Given the description of an element on the screen output the (x, y) to click on. 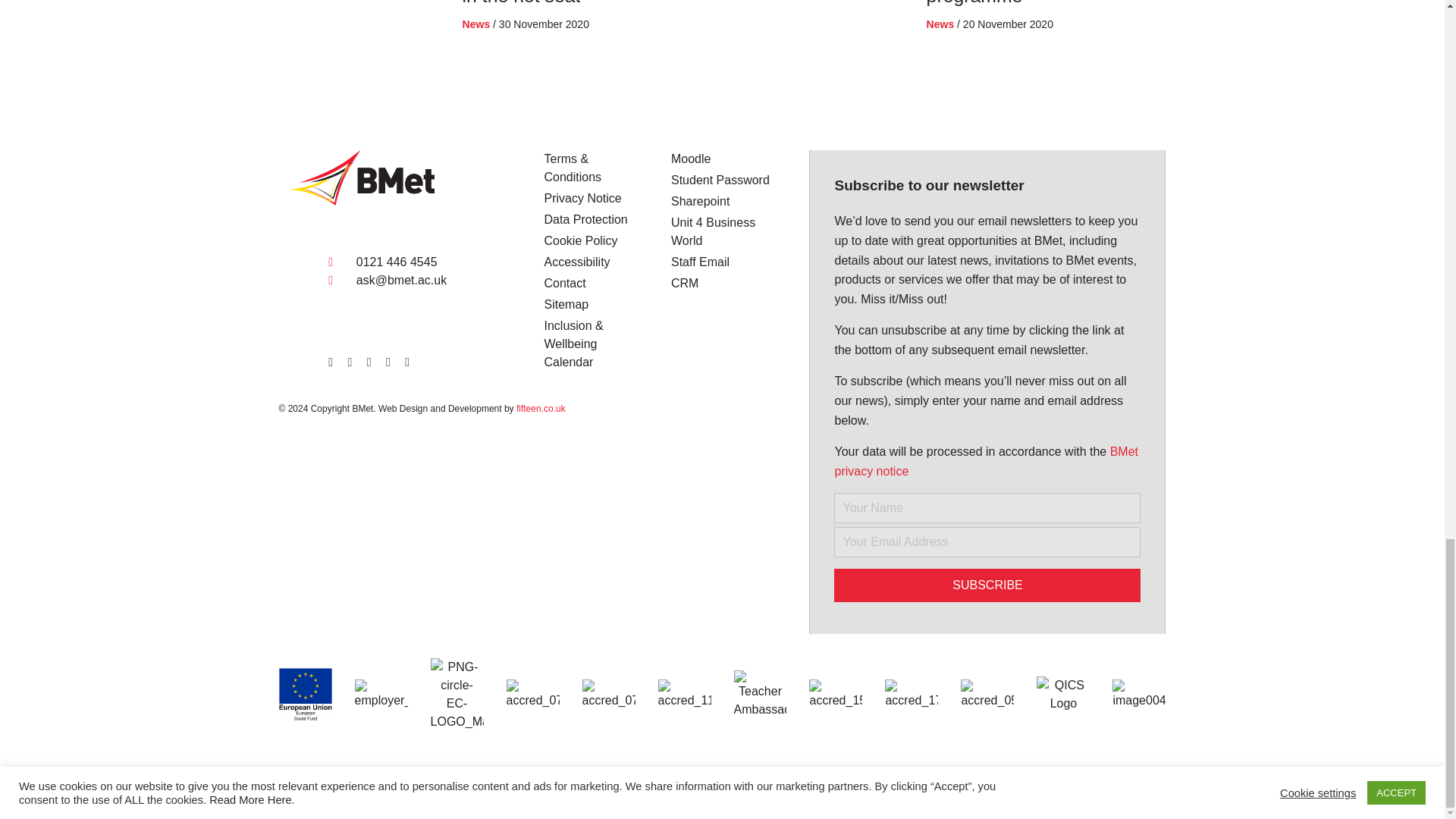
Fifteen (216, 787)
Subscribe (987, 584)
website design and development by Fifteen (89, 787)
